Given the description of an element on the screen output the (x, y) to click on. 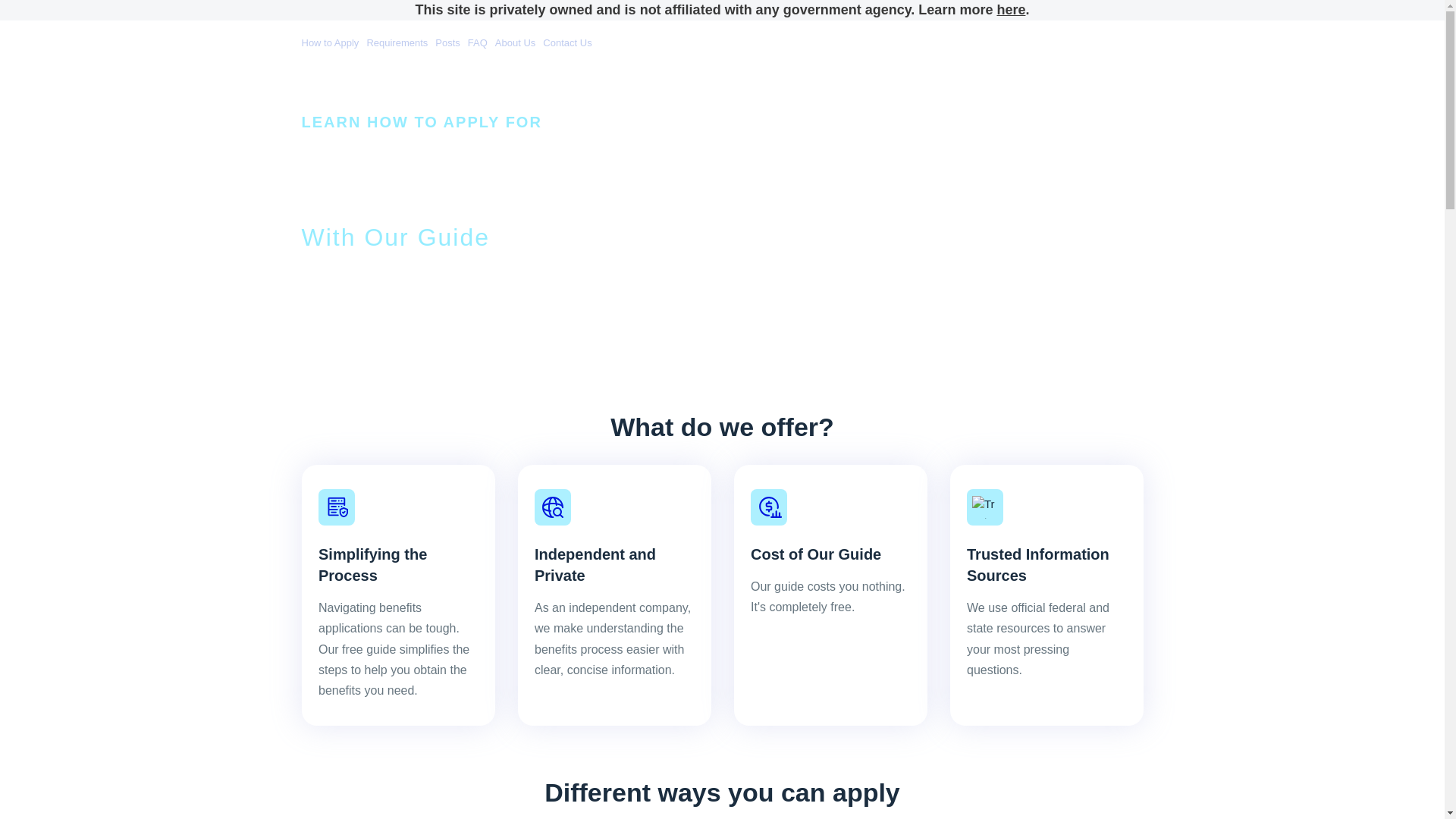
About Us (515, 35)
About Us (515, 35)
Posts (447, 35)
Requirements (396, 35)
here (1010, 9)
Marketing Partners (545, 392)
Posts (447, 35)
Requirements (396, 35)
How to Apply (331, 35)
How to Apply (331, 35)
